Given the description of an element on the screen output the (x, y) to click on. 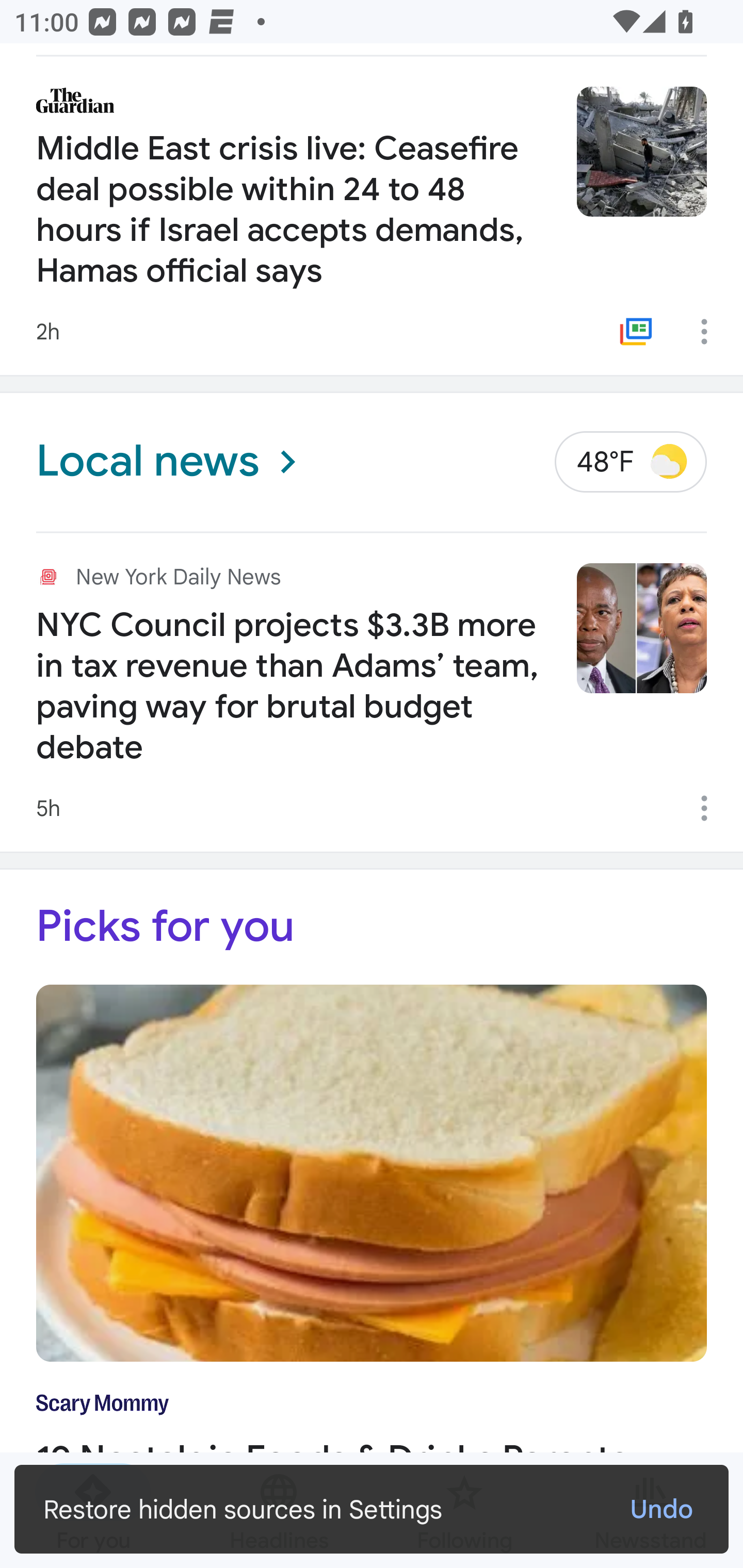
More options (711, 331)
More options (711, 808)
Undo (660, 1509)
